Given the description of an element on the screen output the (x, y) to click on. 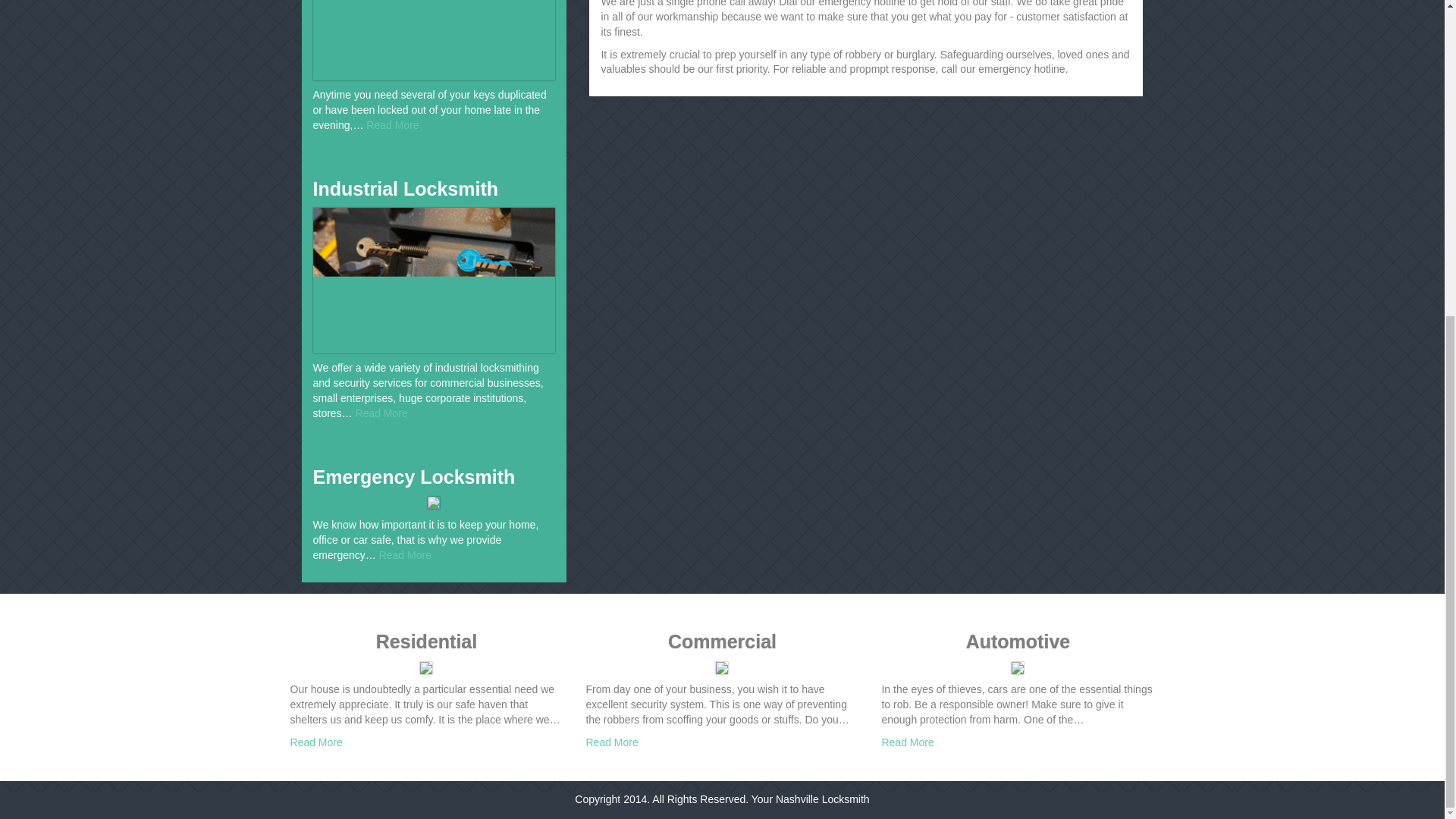
Read More (381, 413)
Read More (315, 742)
Read More (404, 554)
Automotive (1017, 641)
Read More (611, 742)
Residential (425, 641)
Commercial (722, 641)
Read More (906, 742)
Read More (392, 124)
